Given the description of an element on the screen output the (x, y) to click on. 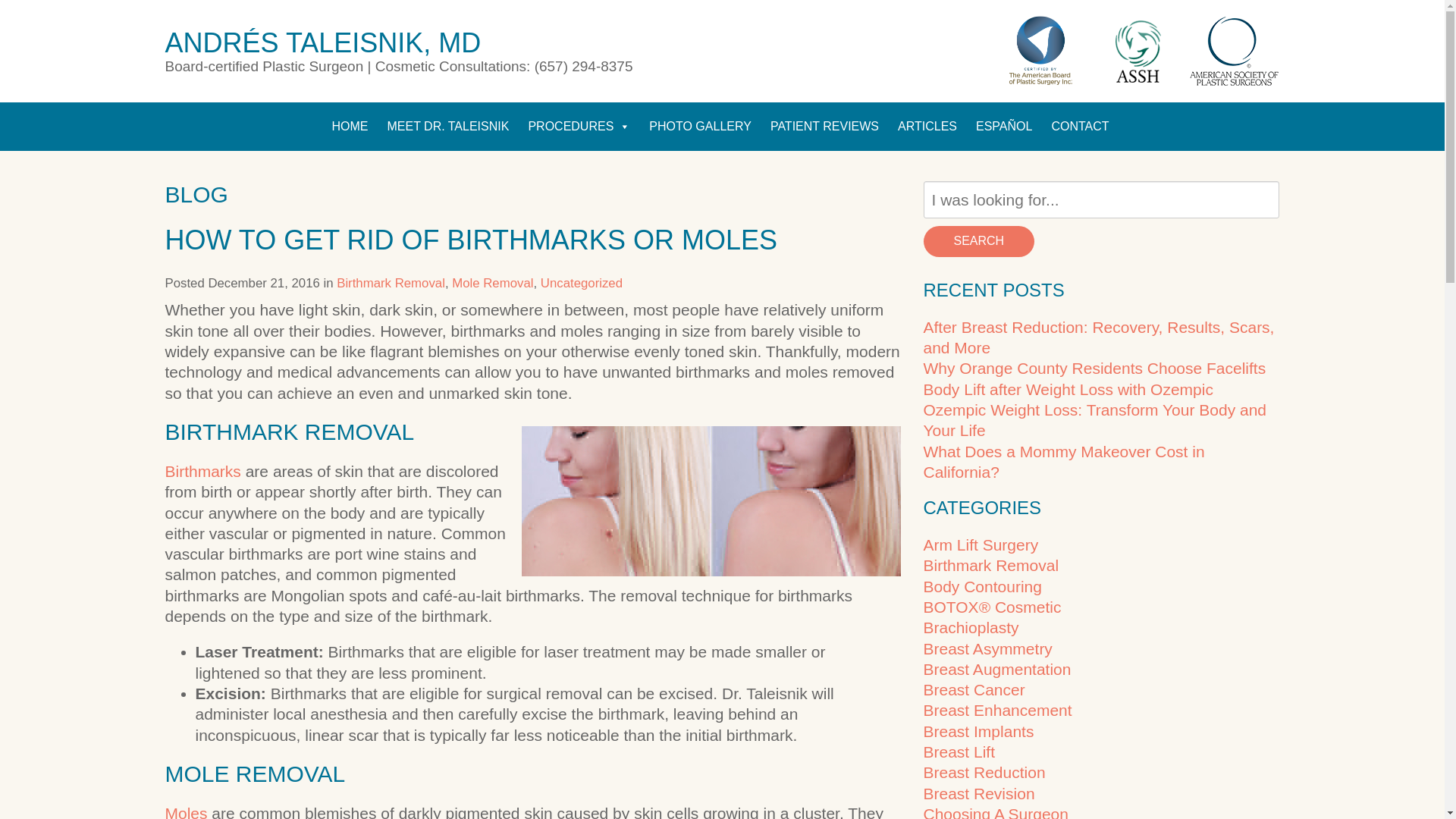
Uncategorized (581, 283)
Mole Removal (491, 283)
Birthmarks (203, 470)
HOME (349, 126)
PATIENT REVIEWS (824, 126)
PROCEDURES (578, 126)
MEET DR. TALEISNIK (447, 126)
Birthmark Removal (390, 283)
ARTICLES (926, 126)
PHOTO GALLERY (700, 126)
